Given the description of an element on the screen output the (x, y) to click on. 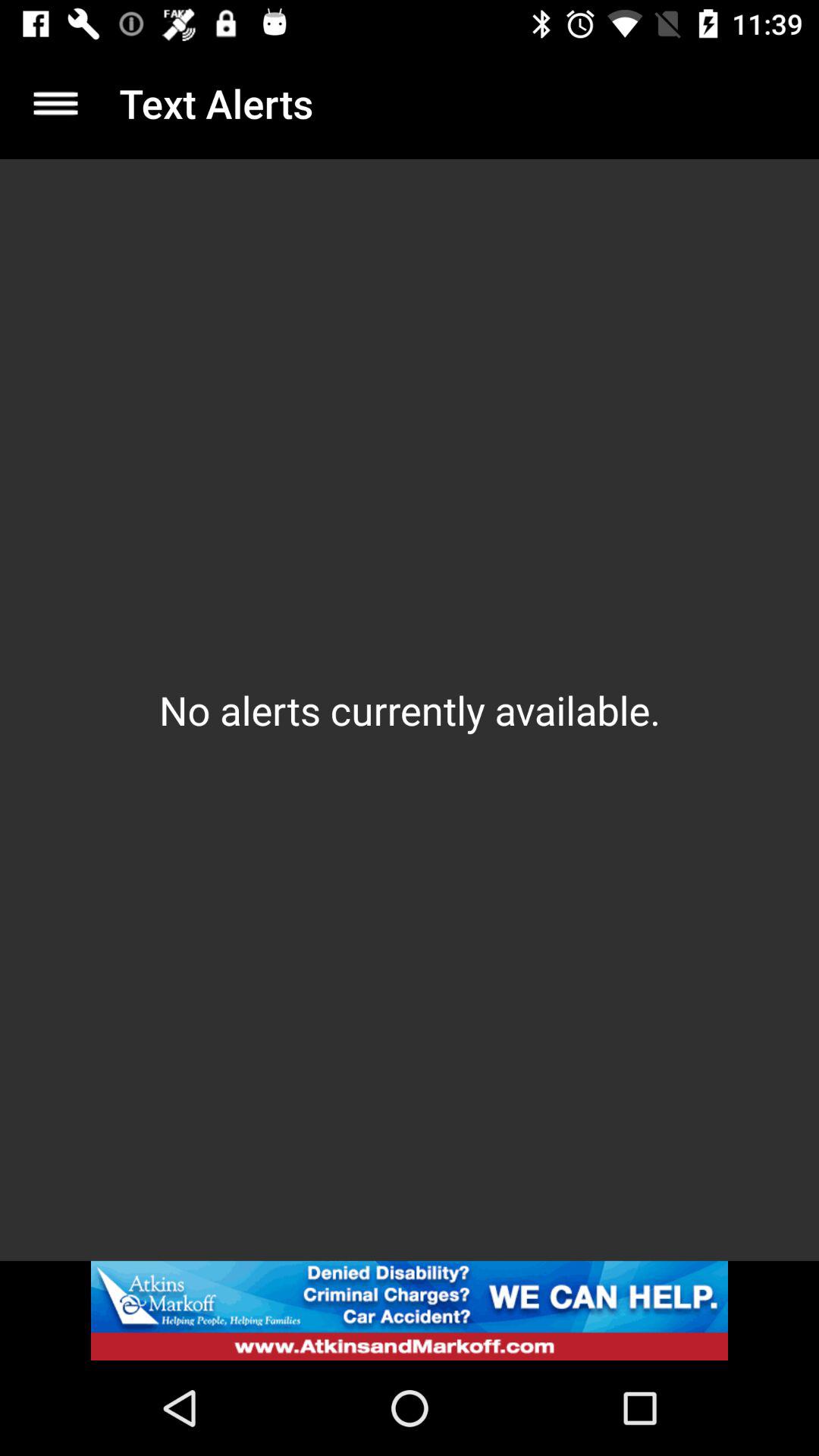
advertisement (409, 1310)
